Given the description of an element on the screen output the (x, y) to click on. 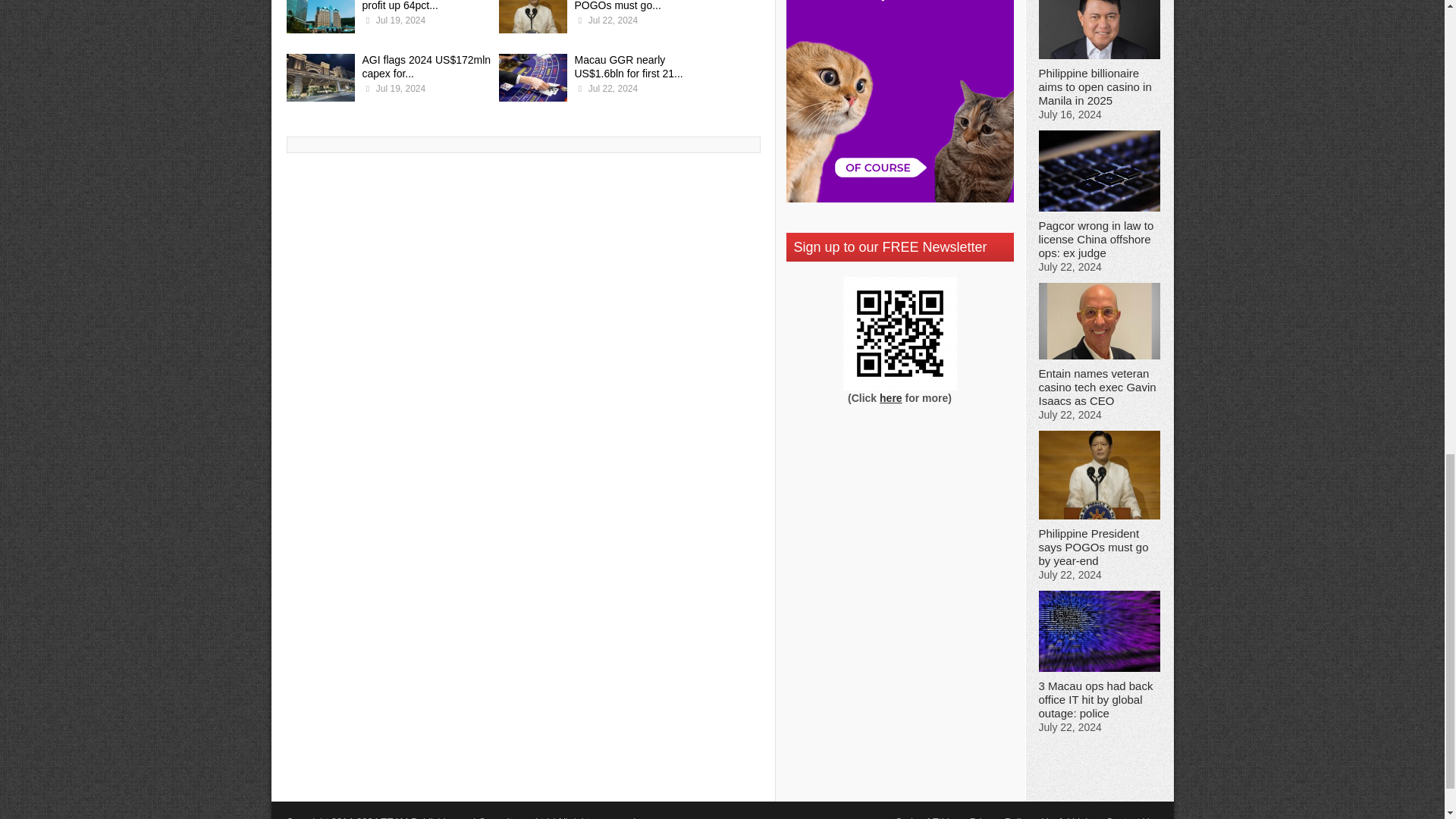
Philippine President says POGOs must go... (634, 5)
Kangwon Land 2Q net profit up 64pct... (414, 5)
Philippine President says POGOs must go by year-end (533, 18)
